Given the description of an element on the screen output the (x, y) to click on. 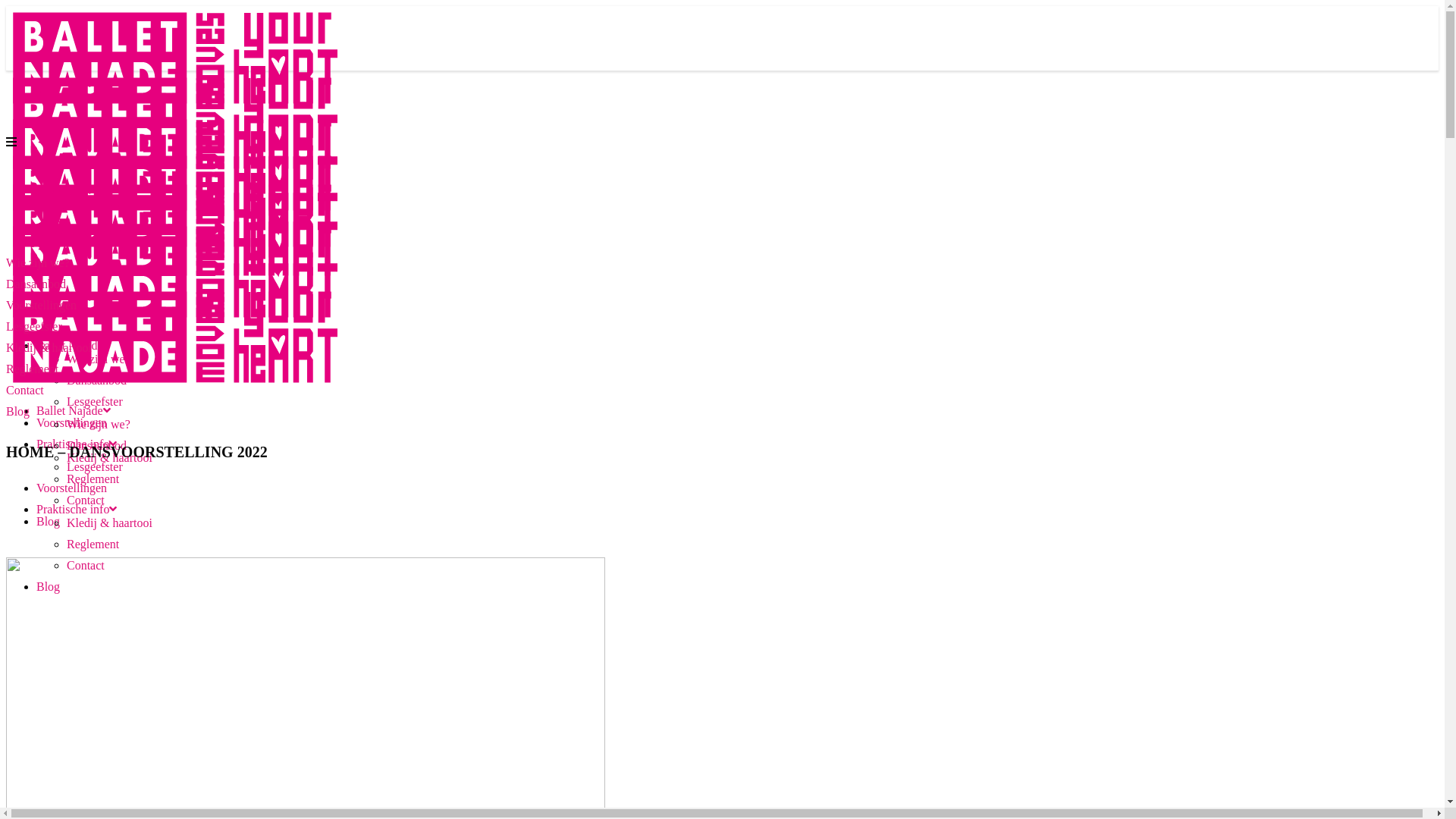
Wie zijn we? Element type: text (37, 262)
Ballet Najade Element type: text (73, 344)
Voorstellingen Element type: text (71, 422)
Lesgeefster Element type: text (94, 401)
Kledij & haartooi Element type: text (109, 522)
Lesgeefster Element type: text (94, 466)
Blog Element type: text (47, 520)
Dansaanbod Element type: text (96, 445)
Blog Element type: text (17, 410)
Contact Element type: text (24, 389)
Dansaanbod Element type: text (96, 379)
Reglement Element type: text (92, 543)
Praktische info Element type: text (76, 508)
Praktische info Element type: text (76, 443)
Voorstellingen Element type: text (41, 304)
Lesgeefster Element type: text (34, 326)
Blog Element type: text (47, 586)
Kledij & haartooi Element type: text (48, 347)
Kledij & haartooi Element type: text (109, 457)
Wie zijn we? Element type: text (98, 423)
Reglement Element type: text (92, 478)
Reglement Element type: text (32, 368)
Dansaanbod Element type: text (35, 283)
Contact Element type: text (85, 499)
Ballet Najade Element type: text (73, 410)
Contact Element type: text (85, 564)
Wie zijn we? Element type: text (98, 358)
Voorstellingen Element type: text (71, 487)
